Given the description of an element on the screen output the (x, y) to click on. 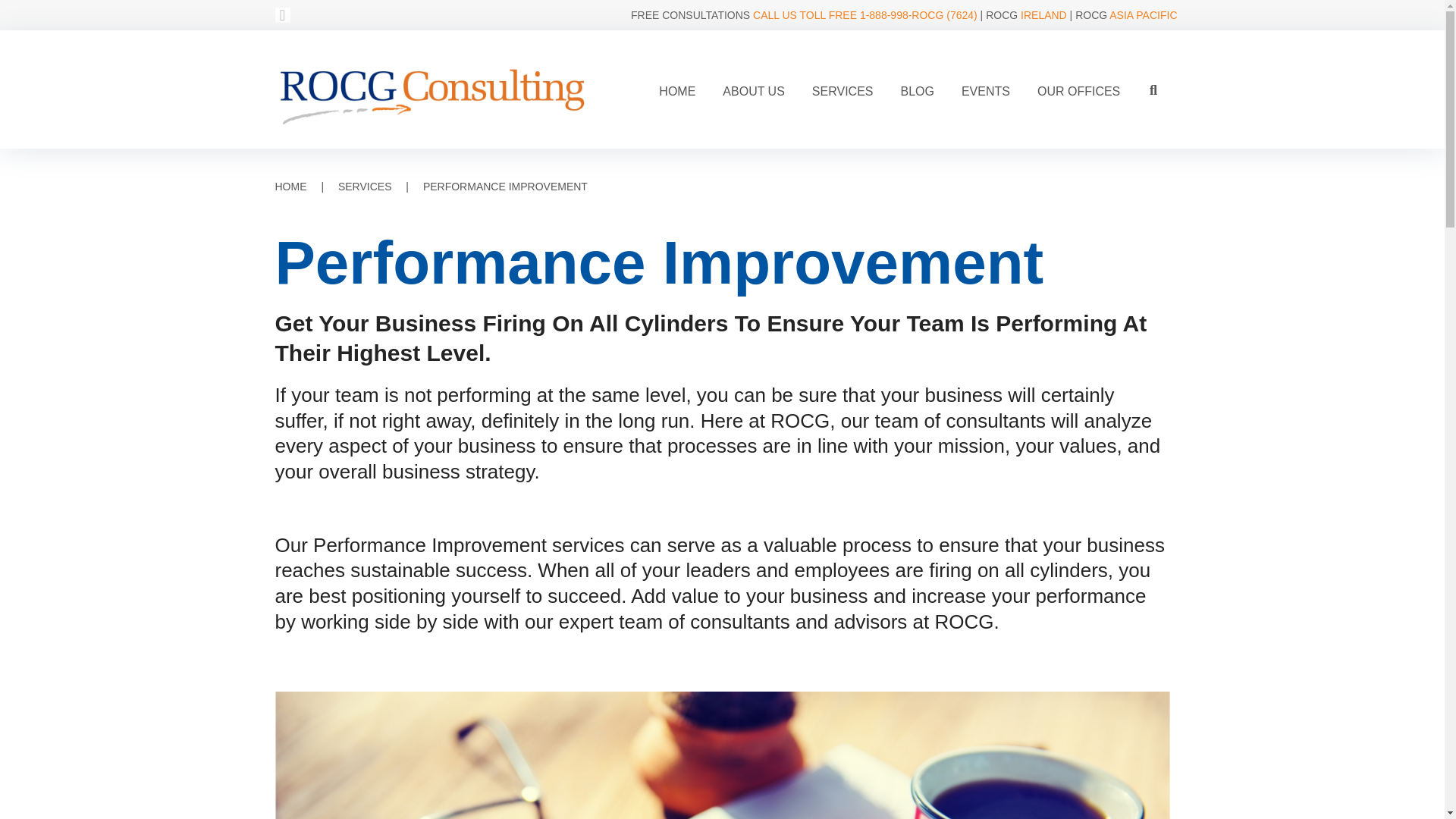
ABOUT US (753, 91)
SERVICES (841, 91)
HOME (677, 91)
OUR OFFICES (1078, 91)
IRELAND (1043, 15)
HOME (290, 186)
EVENTS (985, 91)
BLOG (916, 91)
ASIA PACIFIC (1142, 15)
